Given the description of an element on the screen output the (x, y) to click on. 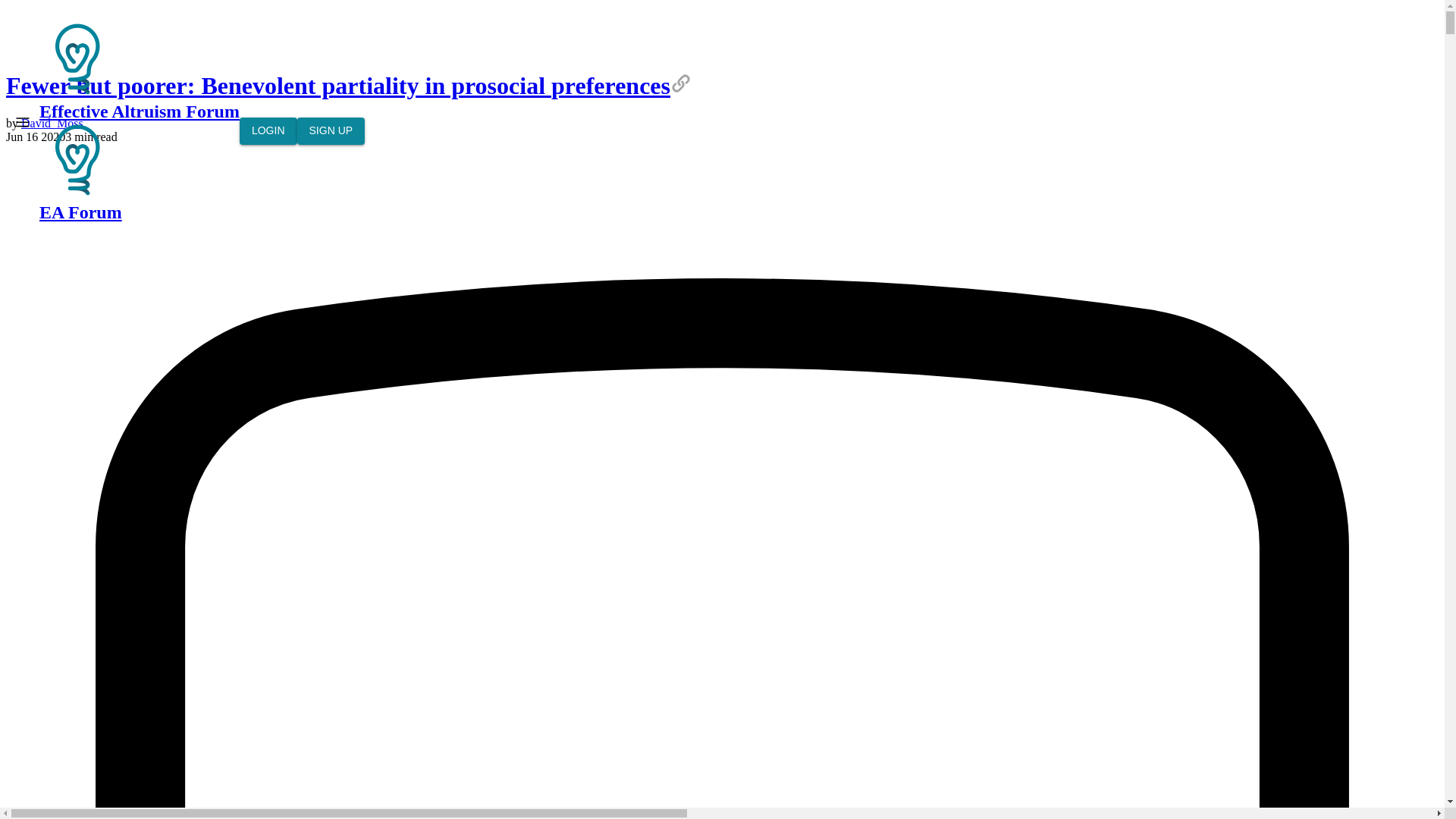
EA Forum (139, 171)
LOGIN (268, 130)
Effective Altruism Forum (77, 59)
Effective Altruism Forum (77, 160)
Effective Altruism Forum (139, 71)
SIGN UP (331, 130)
